Given the description of an element on the screen output the (x, y) to click on. 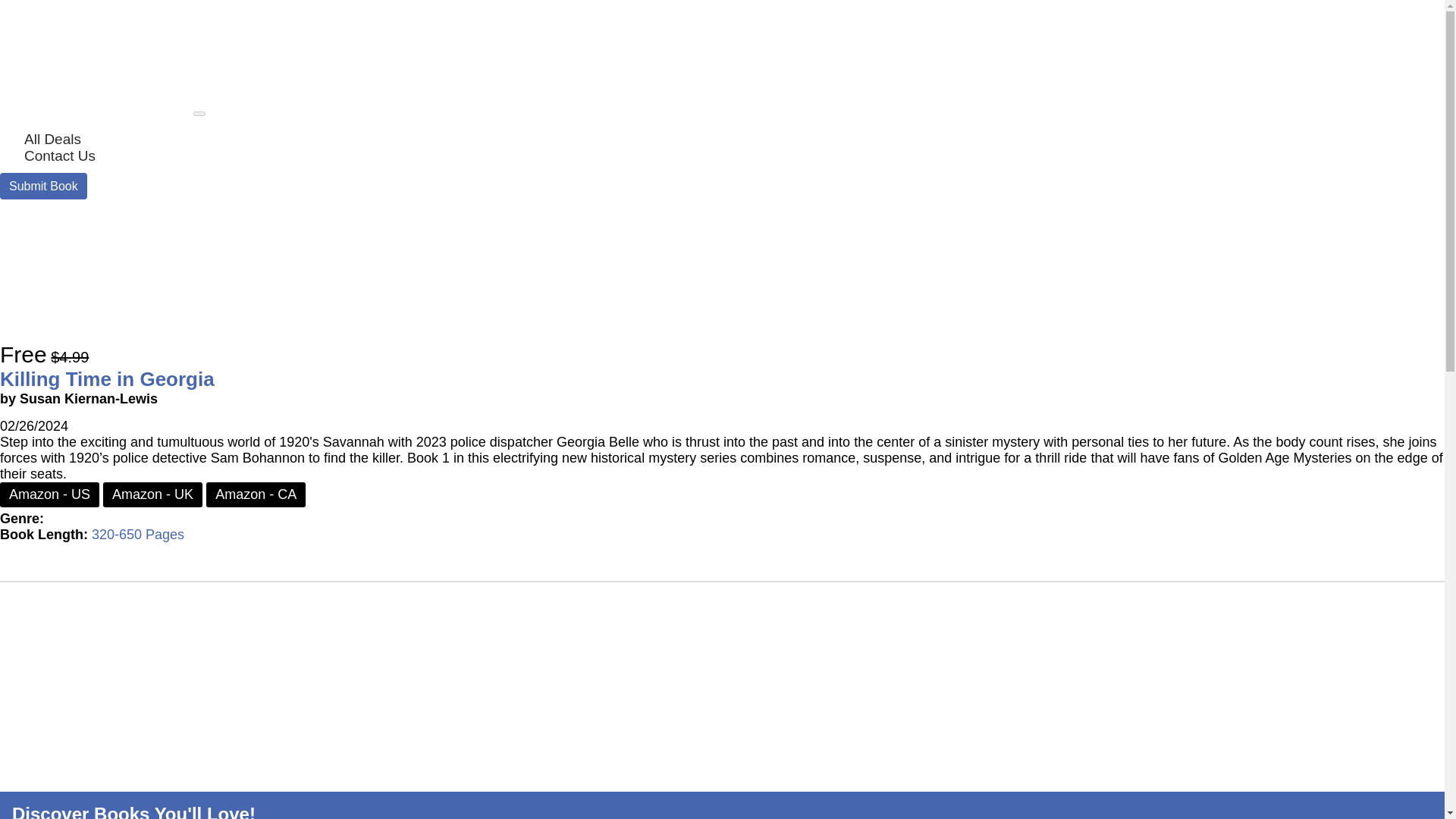
Killing Time in Georgia (107, 378)
Amazon - UK (152, 494)
All Deals (52, 139)
Contact Us (59, 155)
320-650 Pages (137, 534)
Submit Book (43, 185)
Amazon - CA (255, 494)
Amazon - US (49, 494)
